Given the description of an element on the screen output the (x, y) to click on. 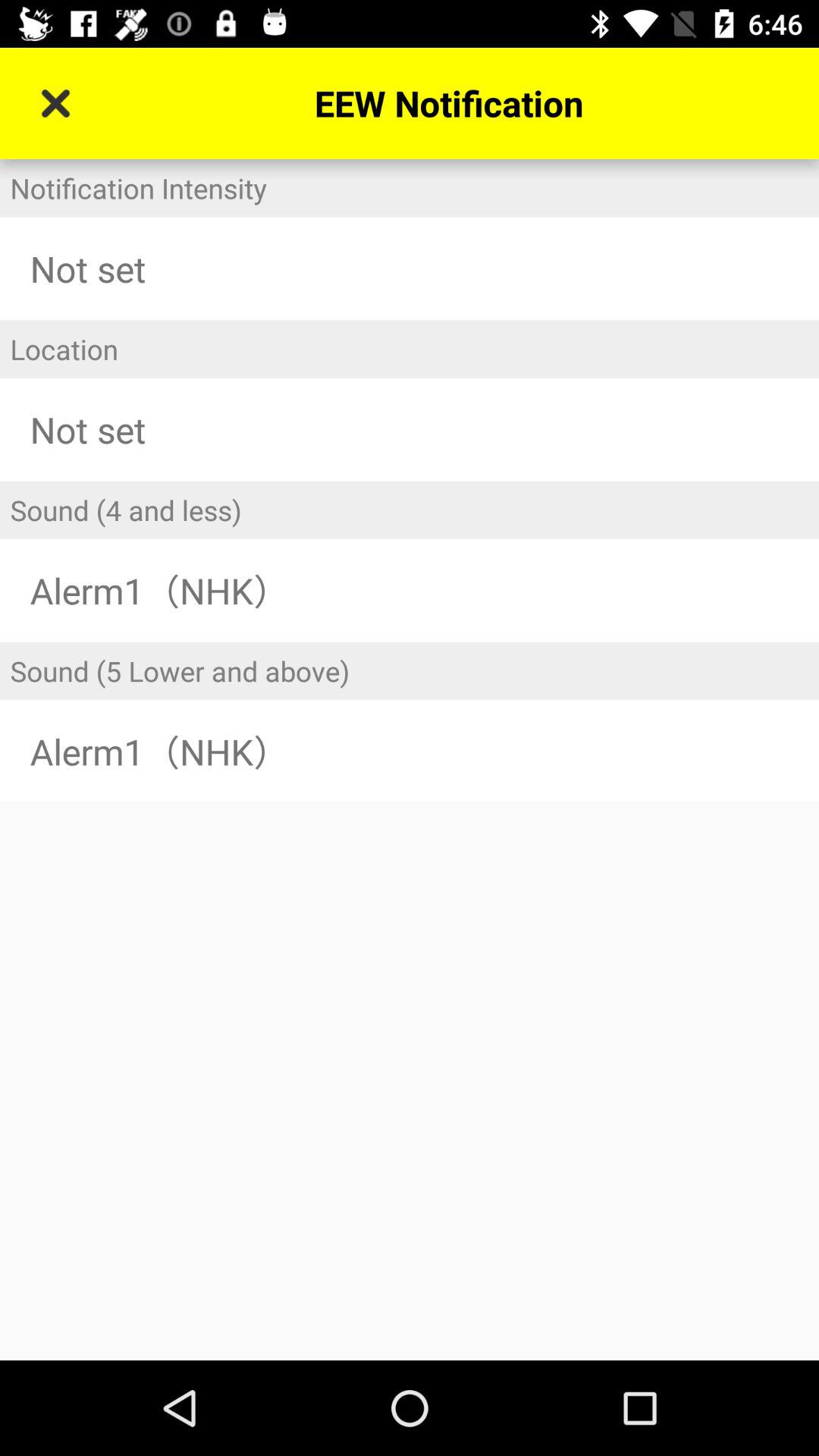
select the icon above not set icon (409, 348)
